Given the description of an element on the screen output the (x, y) to click on. 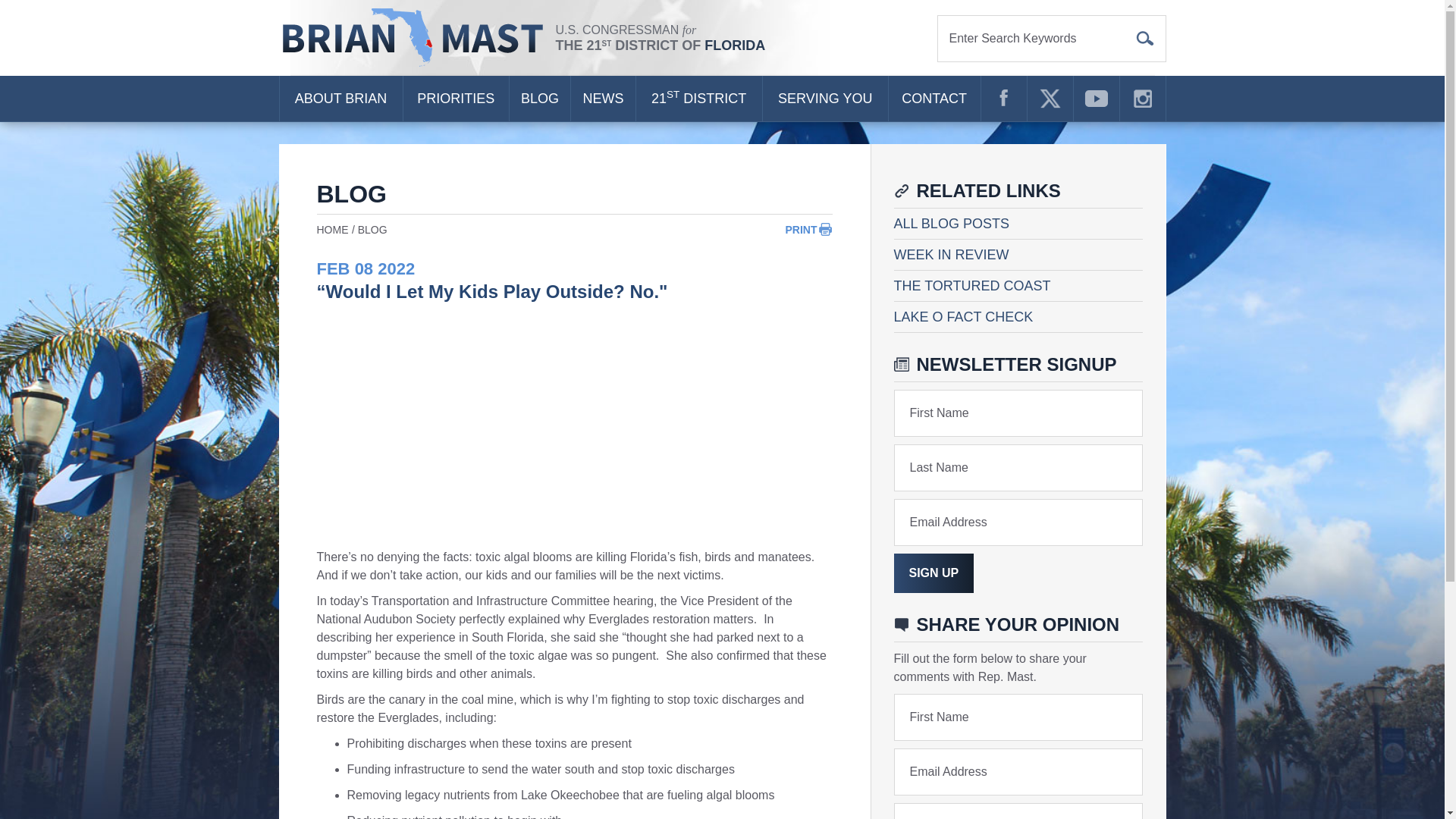
PRIORITIES (455, 98)
ABOUT BRIAN (340, 98)
BLOG (539, 98)
CONTACT (933, 98)
Congressman Brian Mast (417, 38)
21ST DISTRICT (698, 98)
SERVING YOU (825, 98)
NEWS (602, 98)
Go (1144, 38)
